Given the description of an element on the screen output the (x, y) to click on. 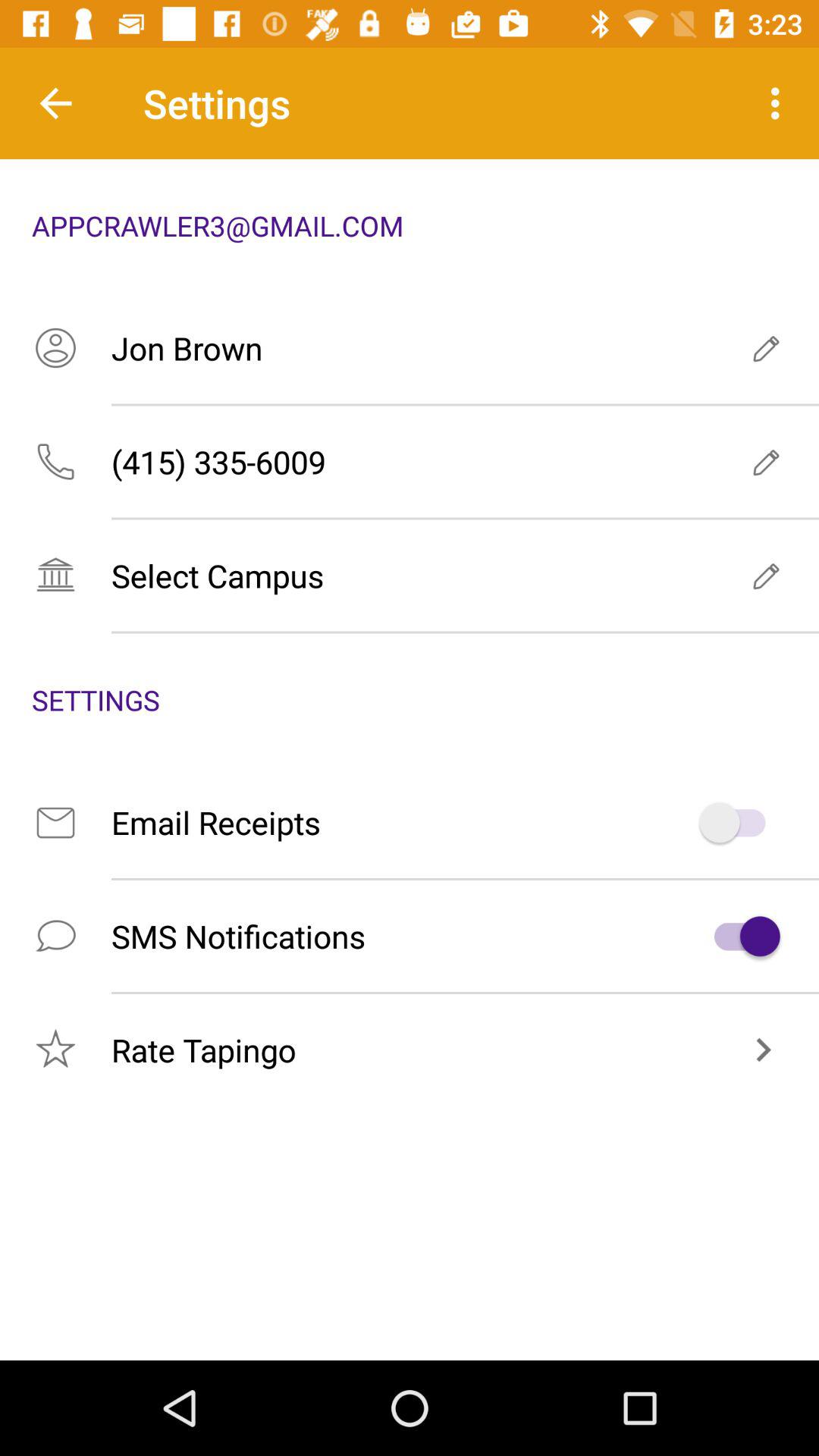
open the icon below the sms notifications icon (409, 1049)
